Given the description of an element on the screen output the (x, y) to click on. 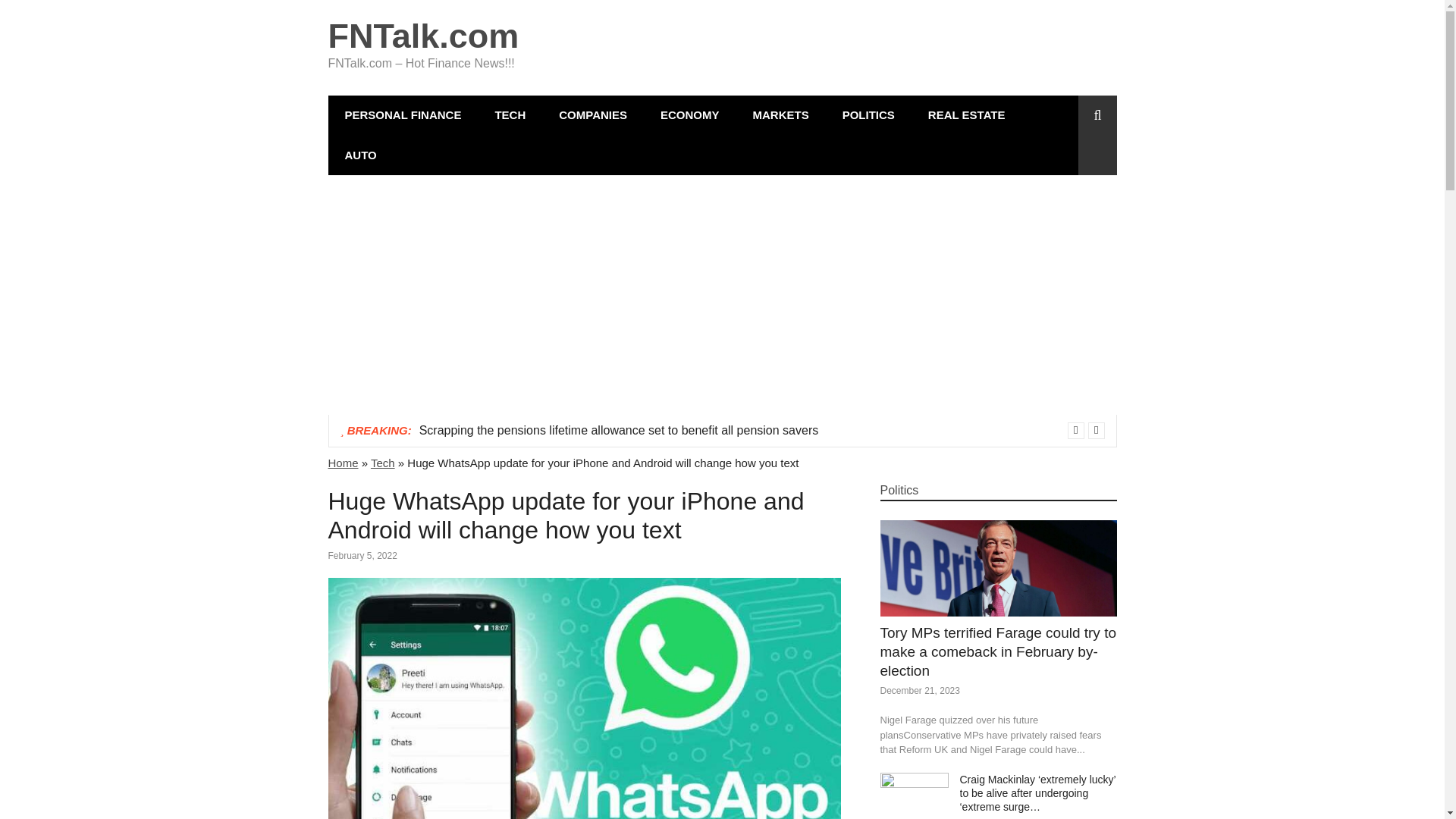
FNTalk.com (422, 35)
MARKETS (780, 115)
PERSONAL FINANCE (402, 115)
AUTO (360, 155)
COMPANIES (592, 115)
Home (342, 462)
TECH (509, 115)
Tech (382, 462)
ECONOMY (689, 115)
POLITICS (868, 115)
REAL ESTATE (966, 115)
